Given the description of an element on the screen output the (x, y) to click on. 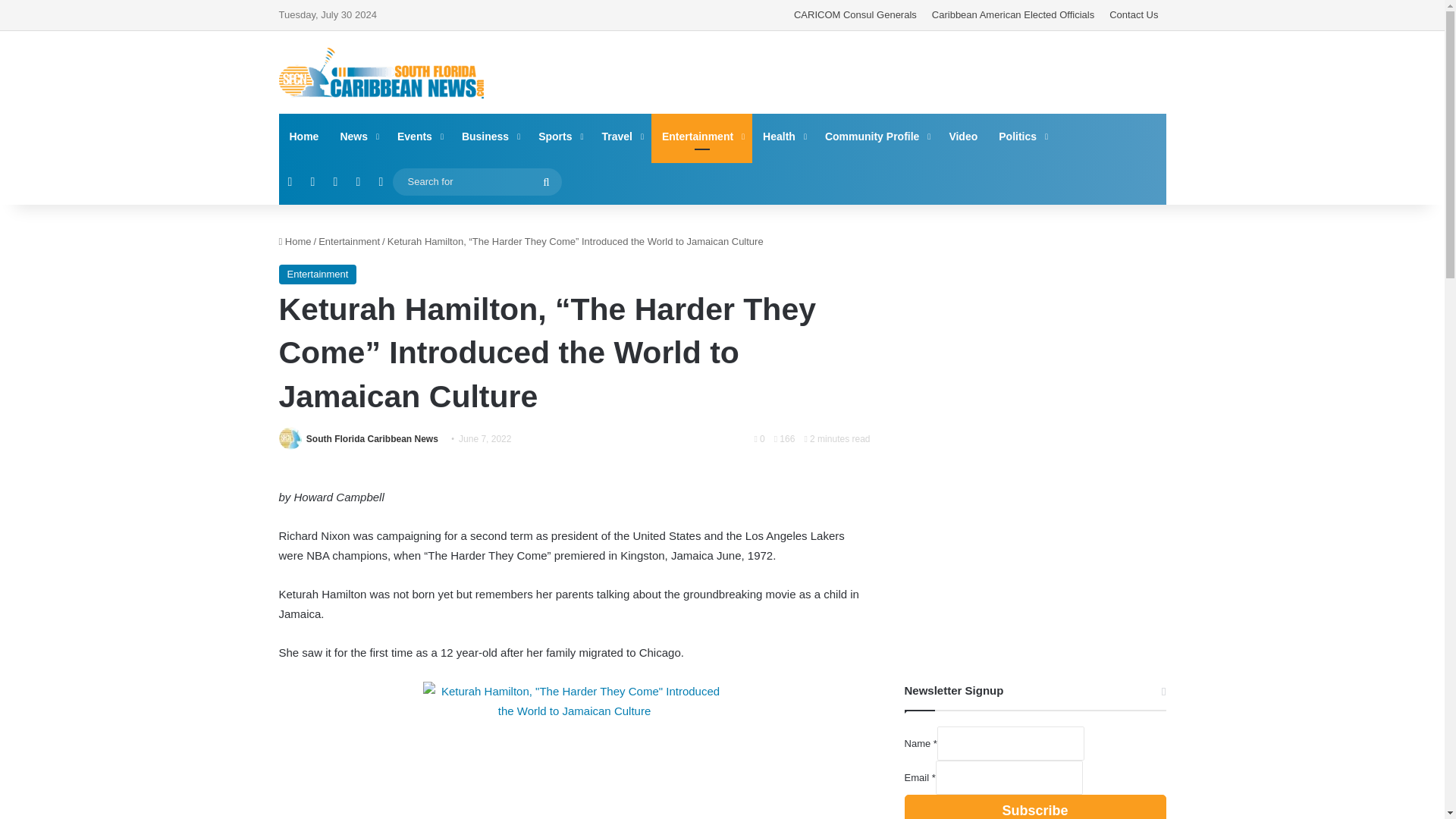
Politics (1021, 135)
3rd party ad content (1034, 321)
Community Profile (875, 135)
Entertainment (701, 135)
Health (782, 135)
South Florida Caribbean News (381, 72)
3rd party ad content (1034, 549)
South Florida Caribbean News (371, 439)
Video (962, 135)
South Florida Caribbean News (371, 439)
Caribbean American Elected Officials (1013, 15)
Business (489, 135)
CARICOM Consul Generals (855, 15)
Events (419, 135)
Entertainment (317, 274)
